Given the description of an element on the screen output the (x, y) to click on. 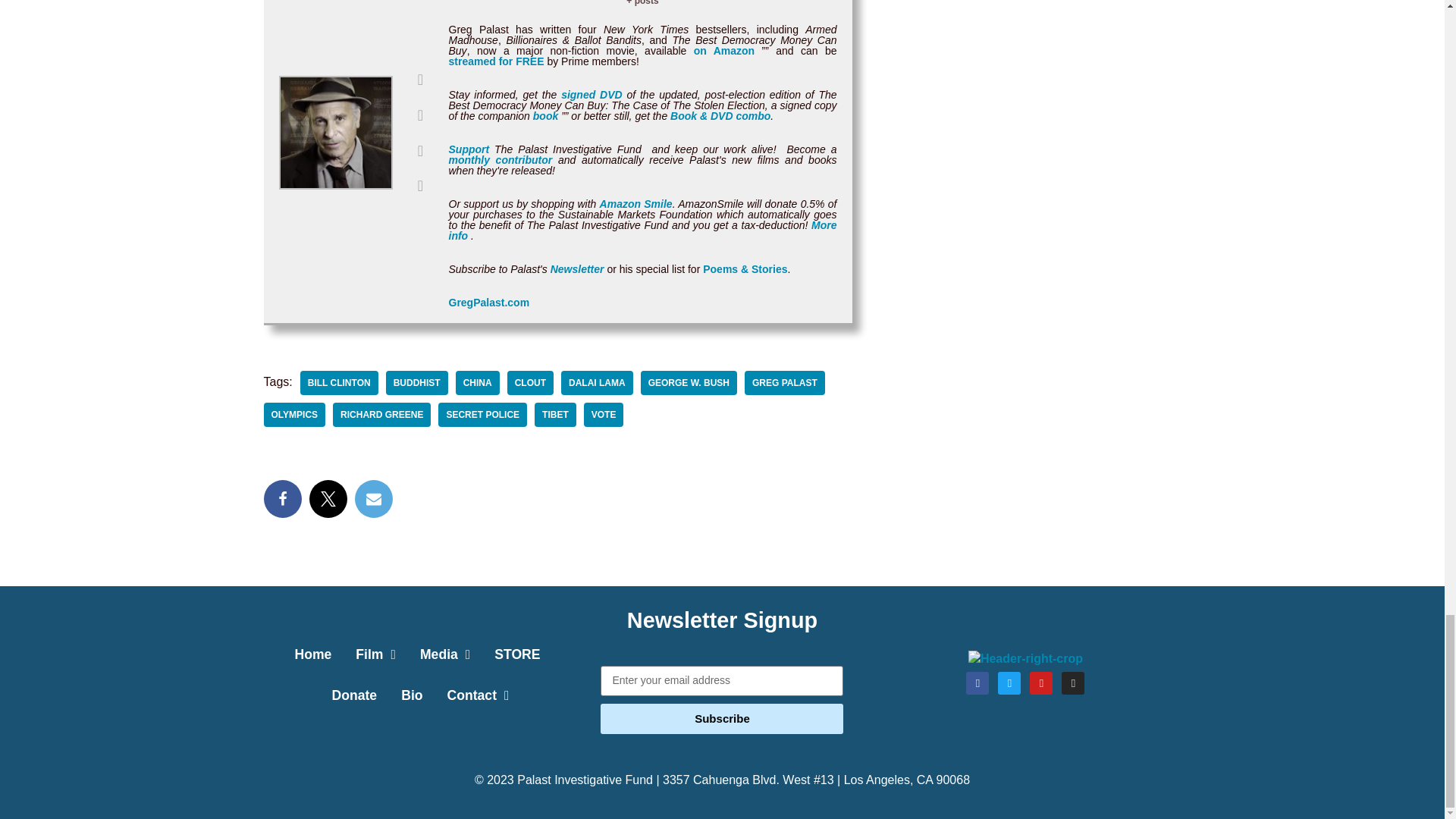
Richard Greene (381, 414)
buddhist (416, 382)
Dalai Lama (596, 382)
Greg Palast (784, 382)
China (477, 382)
clout (529, 382)
Bill Clinton (338, 382)
George W. Bush (688, 382)
Olympics (294, 414)
